Given the description of an element on the screen output the (x, y) to click on. 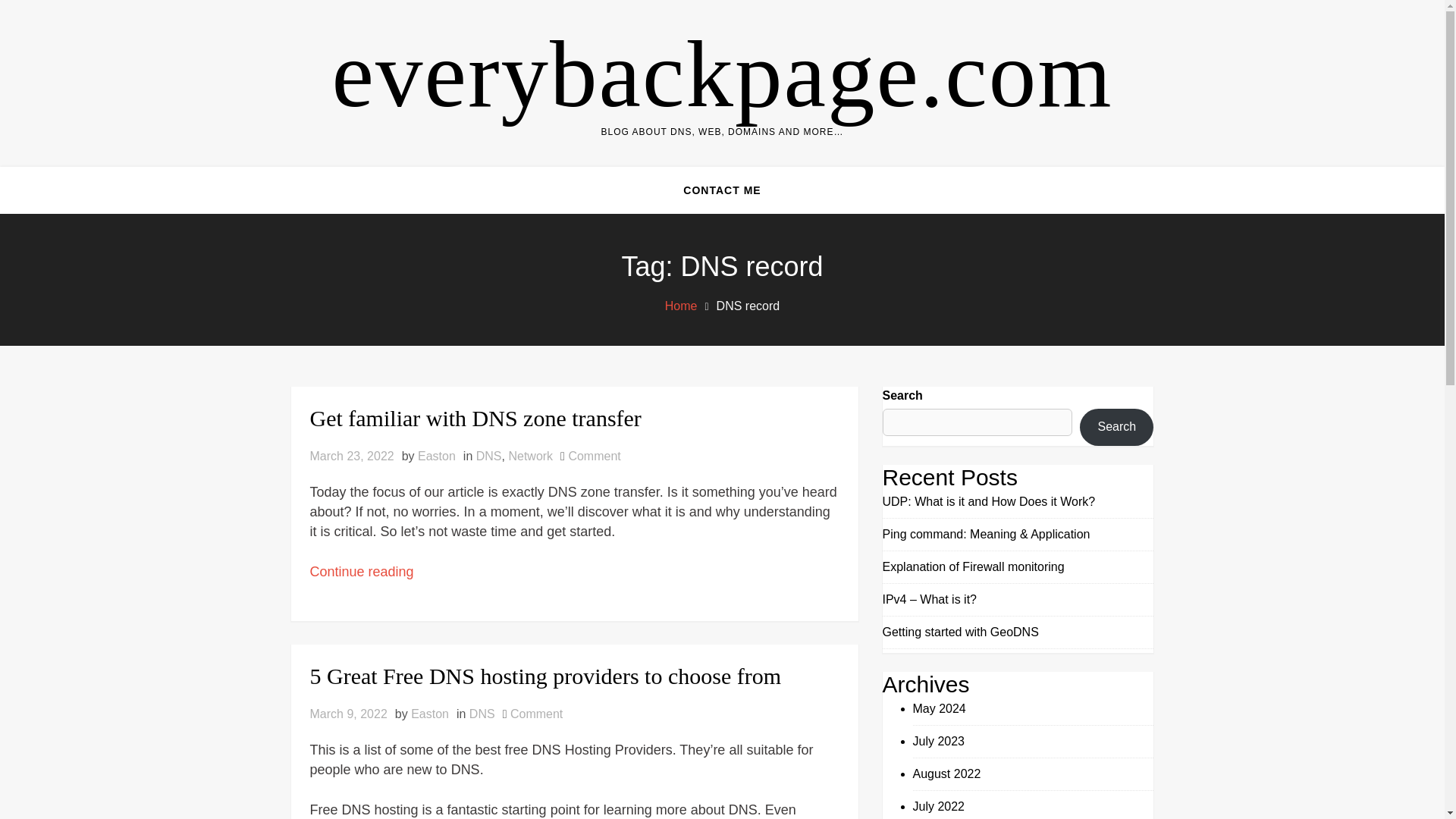
August 2022 (946, 773)
Home (681, 305)
everybackpage.com (536, 713)
Explanation of Firewall monitoring (722, 74)
July 2022 (973, 566)
May 2024 (938, 806)
Network (939, 707)
UDP: What is it and How Does it Work? (530, 455)
Easton (989, 501)
